Given the description of an element on the screen output the (x, y) to click on. 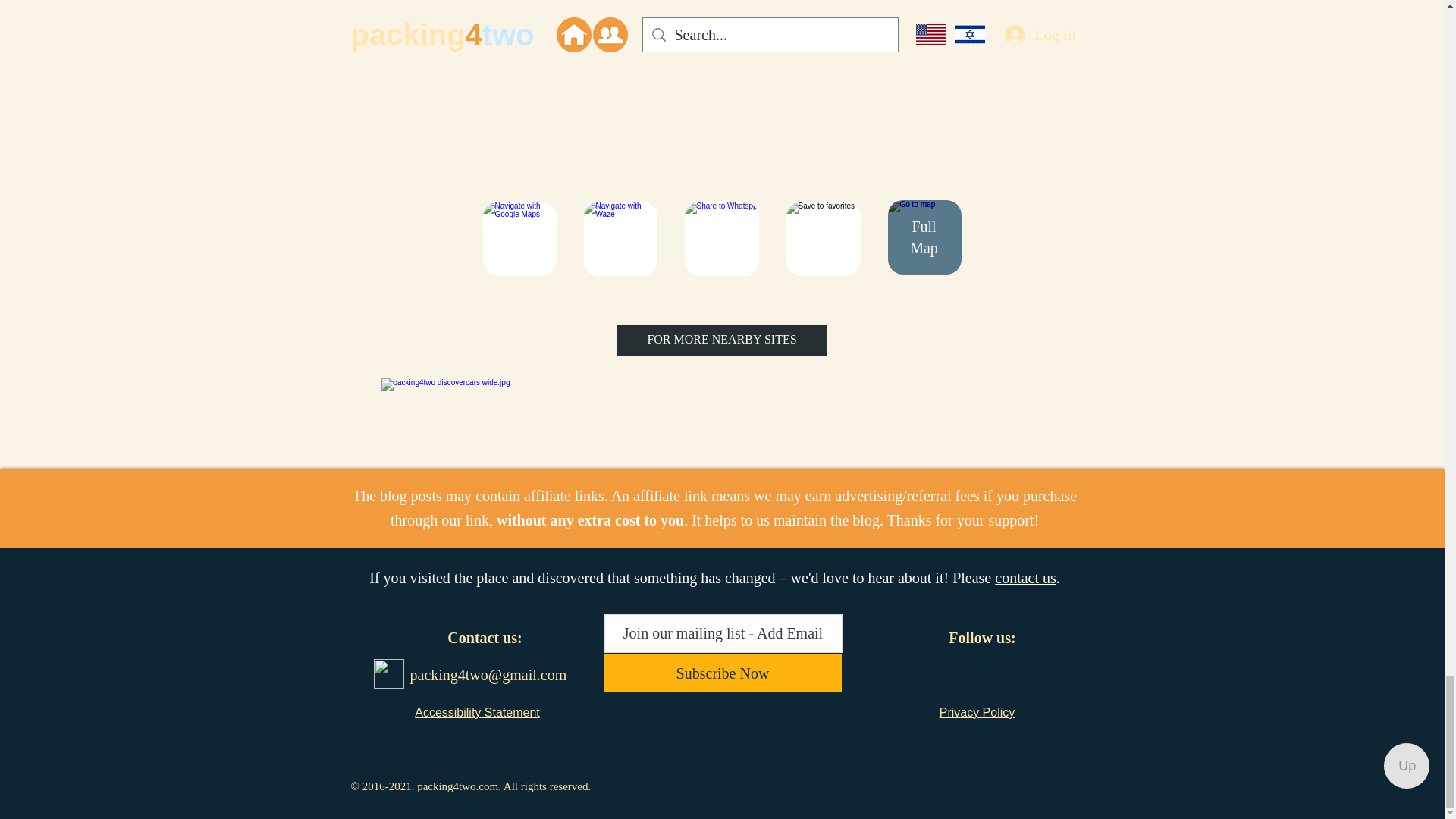
Follow us: (981, 637)
Go to map (923, 236)
Navigate with Waze (620, 238)
contact us (1025, 577)
Contact us: (483, 637)
Privacy Policy (976, 712)
Save to favorites (823, 238)
Subscribe Now (722, 673)
Navigate with Google Maps (518, 238)
Share to Whatspp (721, 238)
Accessibility Statement (477, 712)
FOR MORE NEARBY SITES (722, 340)
